Given the description of an element on the screen output the (x, y) to click on. 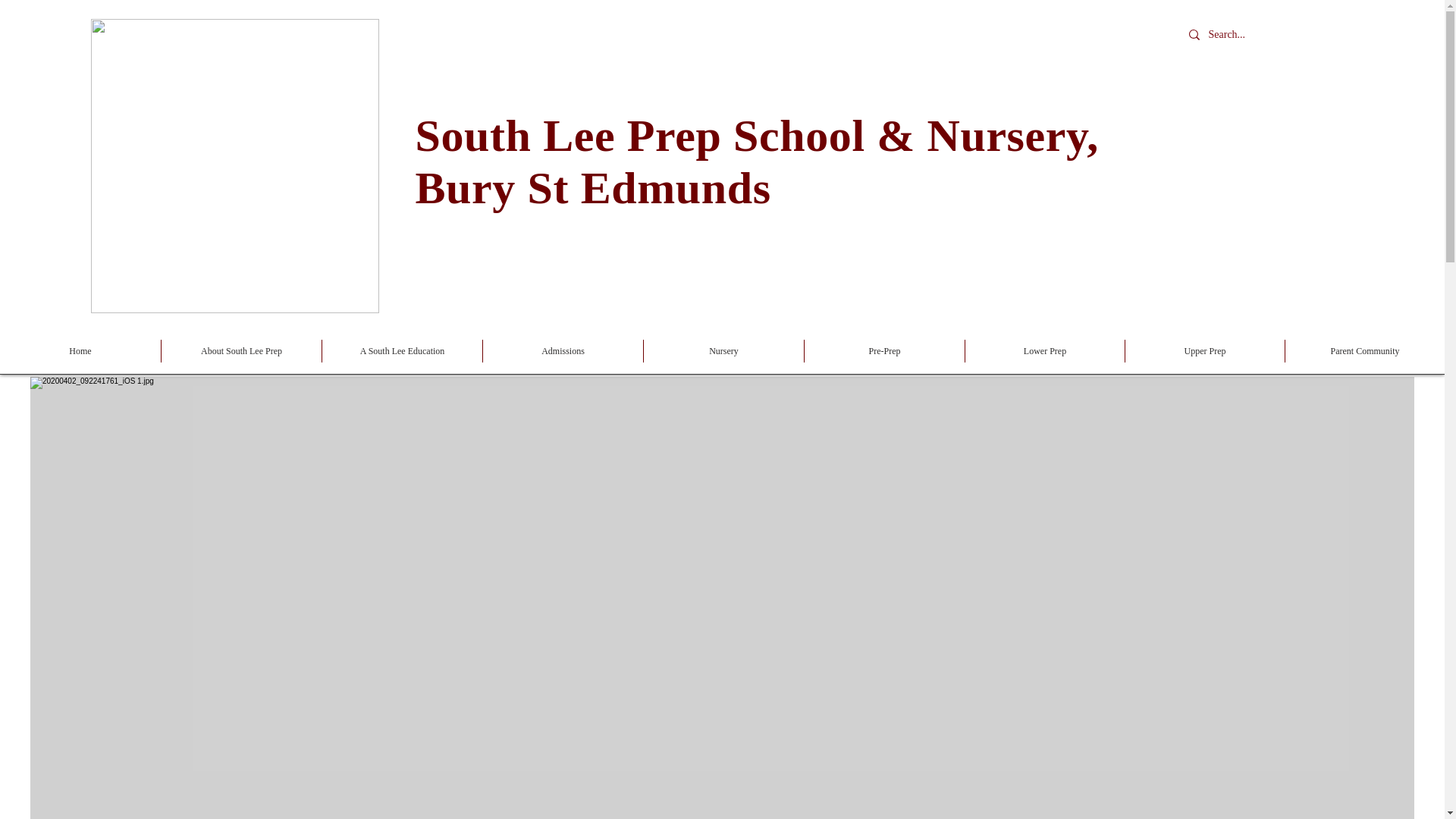
Home (80, 350)
A South Lee Education (401, 350)
Admissions (563, 350)
Upper Prep (1204, 350)
Nursery (723, 350)
Pre-Prep (884, 350)
Lower Prep (1044, 350)
About South Lee Prep (241, 350)
